Given the description of an element on the screen output the (x, y) to click on. 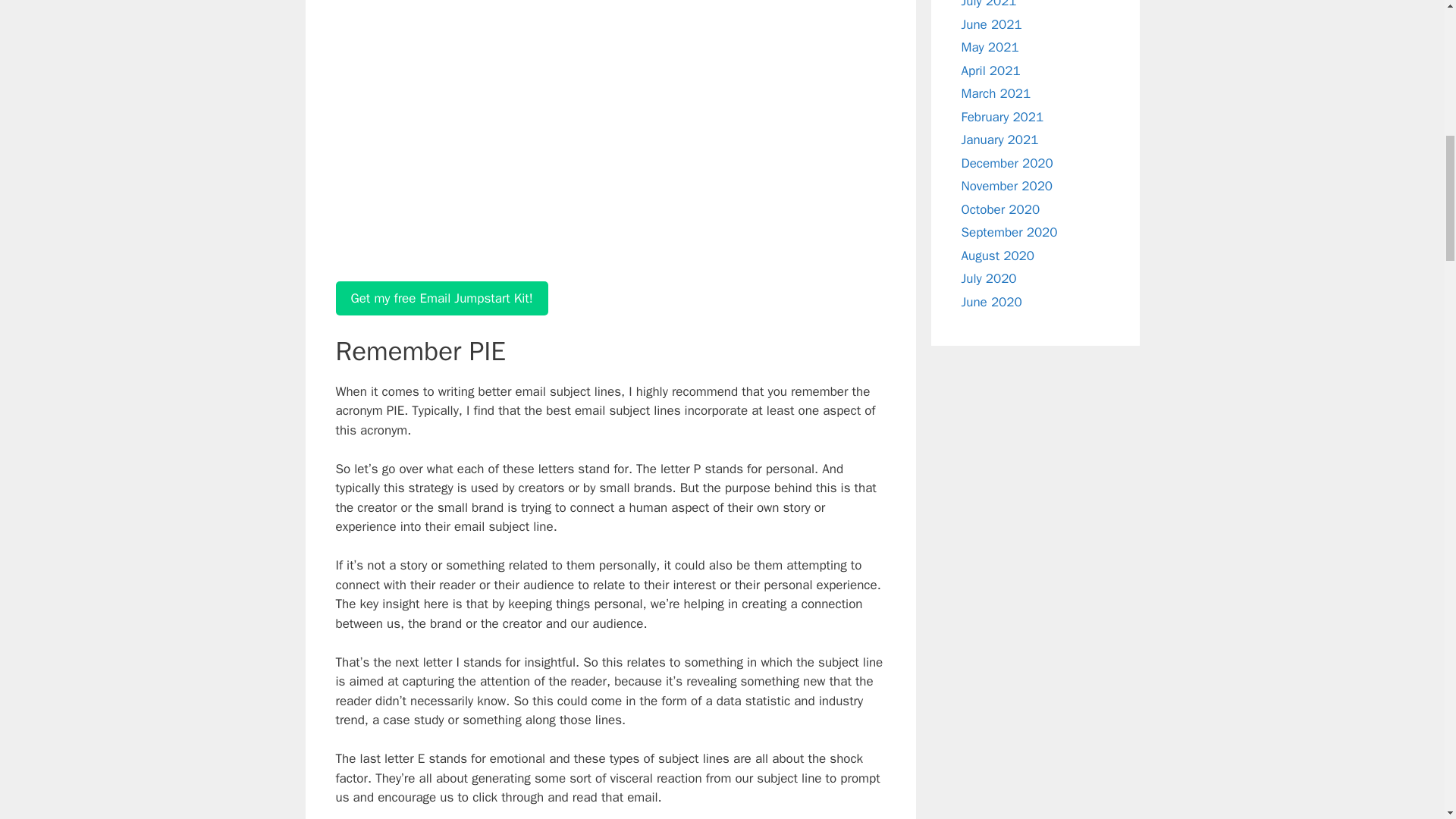
Get my free Email Jumpstart Kit! (440, 298)
